Given the description of an element on the screen output the (x, y) to click on. 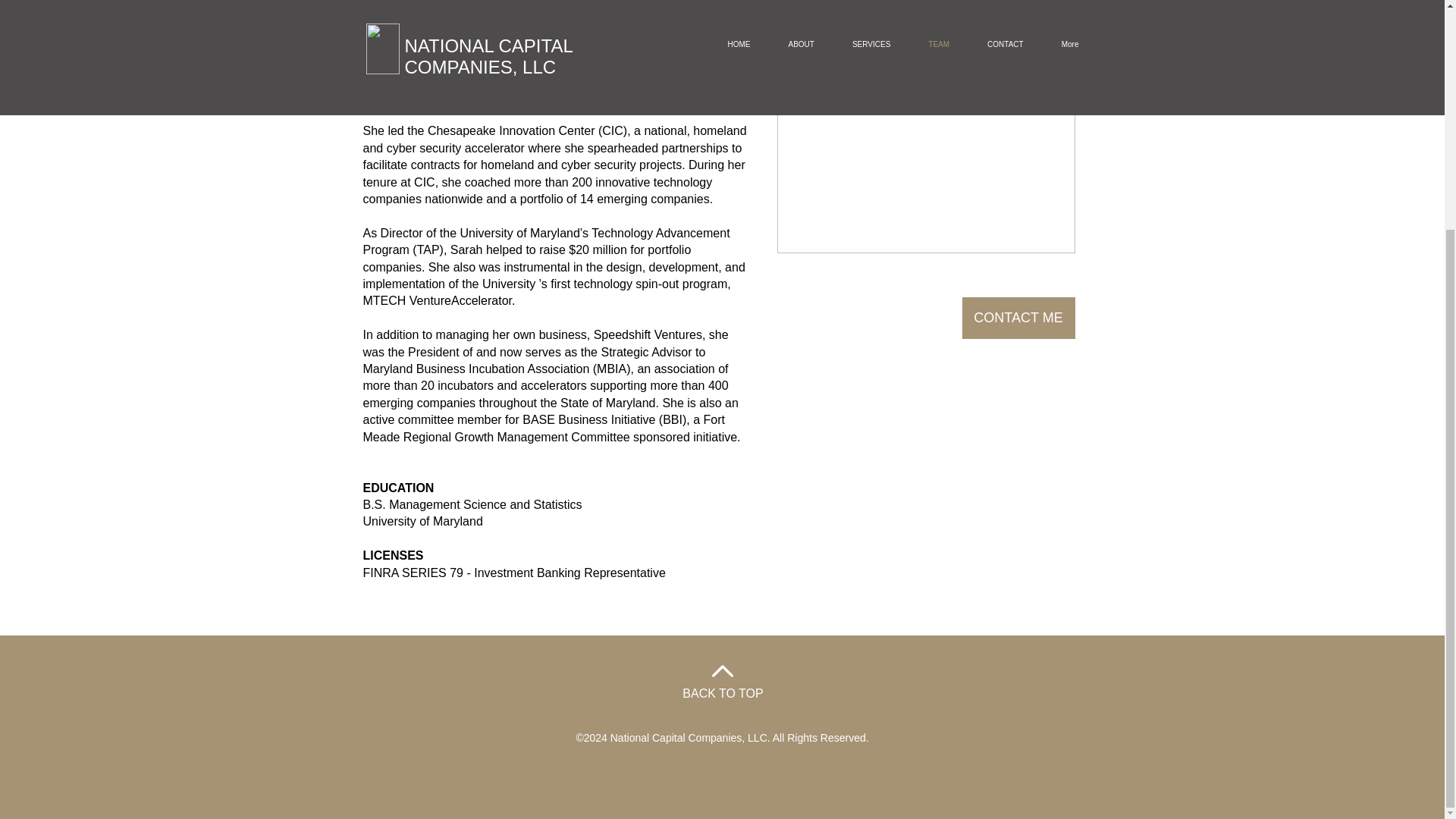
BACK TO TOP (722, 693)
djamshadi.jpg (925, 126)
CONTACT ME (1017, 318)
